Given the description of an element on the screen output the (x, y) to click on. 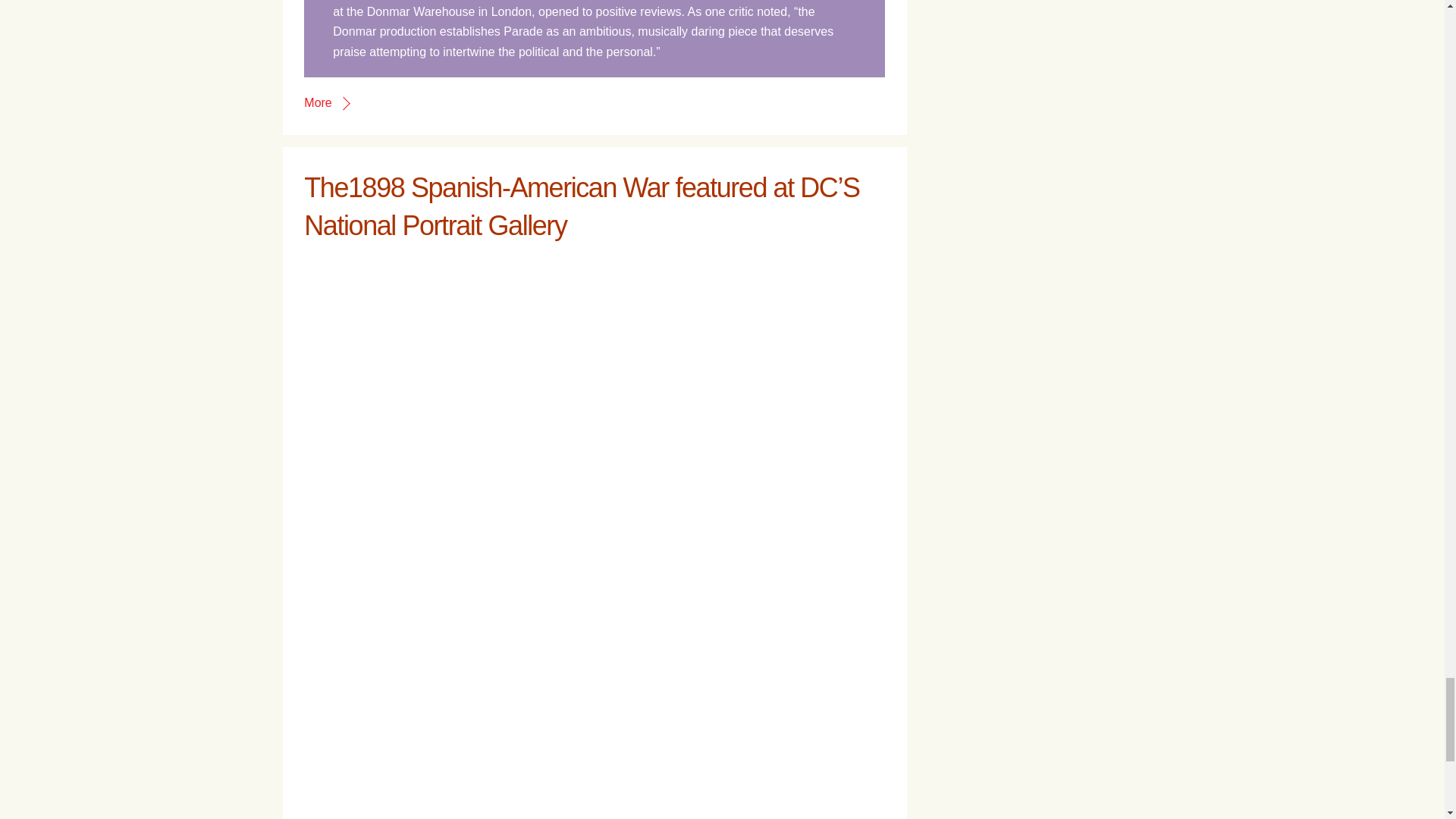
More (325, 102)
